Given the description of an element on the screen output the (x, y) to click on. 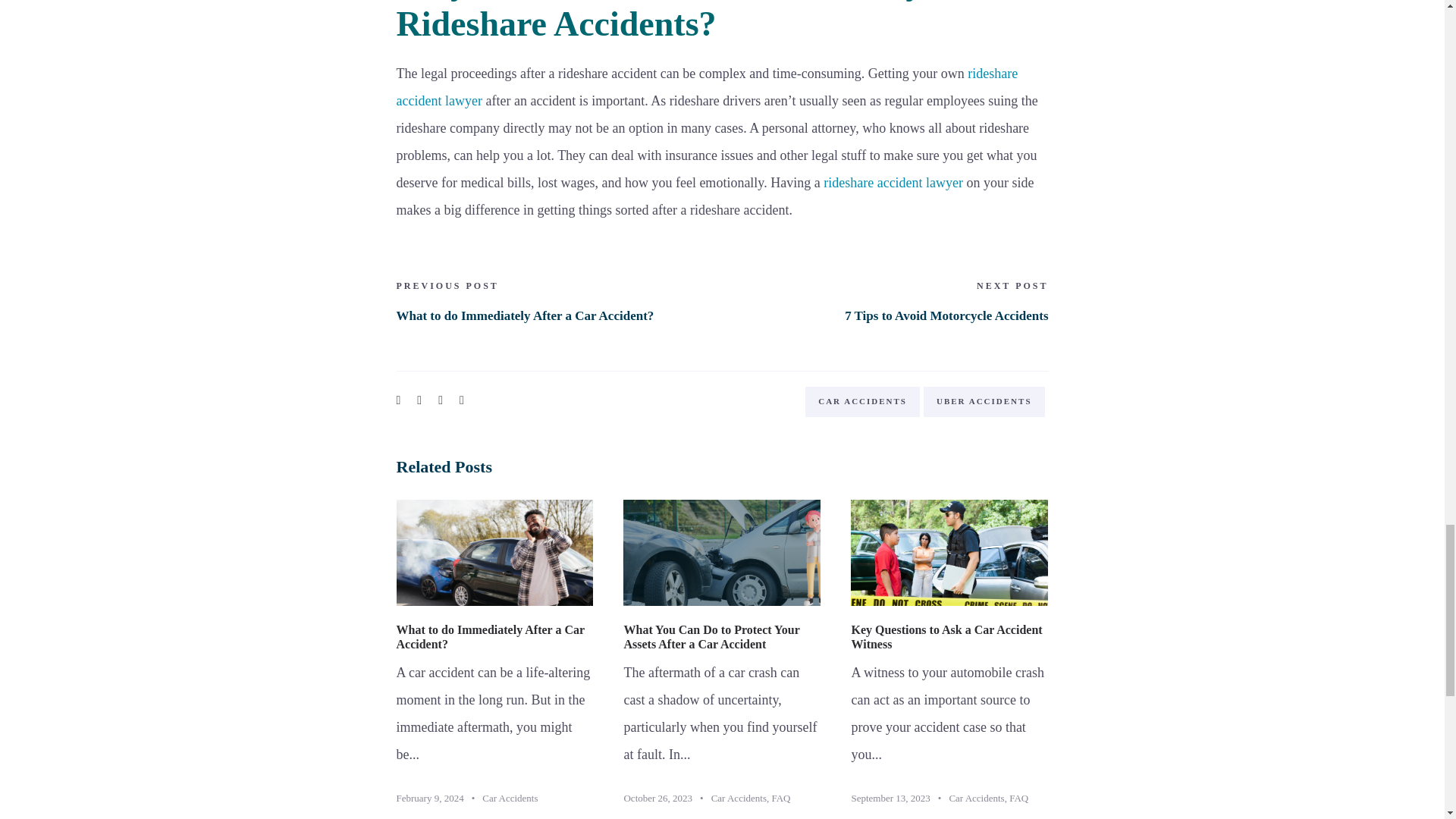
after-car-accident (494, 552)
